Given the description of an element on the screen output the (x, y) to click on. 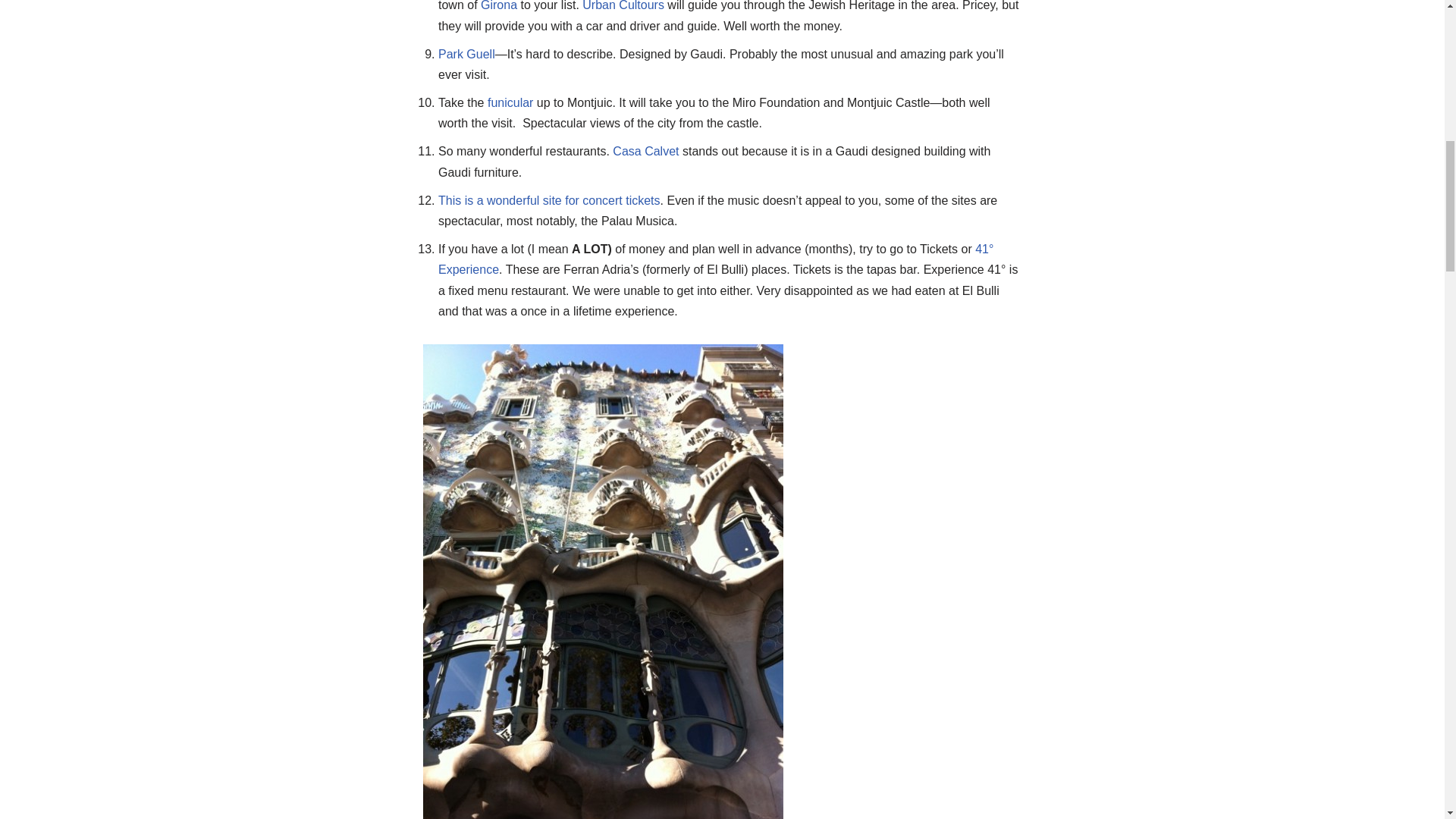
Casa Calvet (645, 151)
Park Guell (466, 53)
funicular (509, 102)
Girona (498, 5)
This is a wonderful site for concert tickets (549, 200)
Urban Cultours (622, 5)
